Given the description of an element on the screen output the (x, y) to click on. 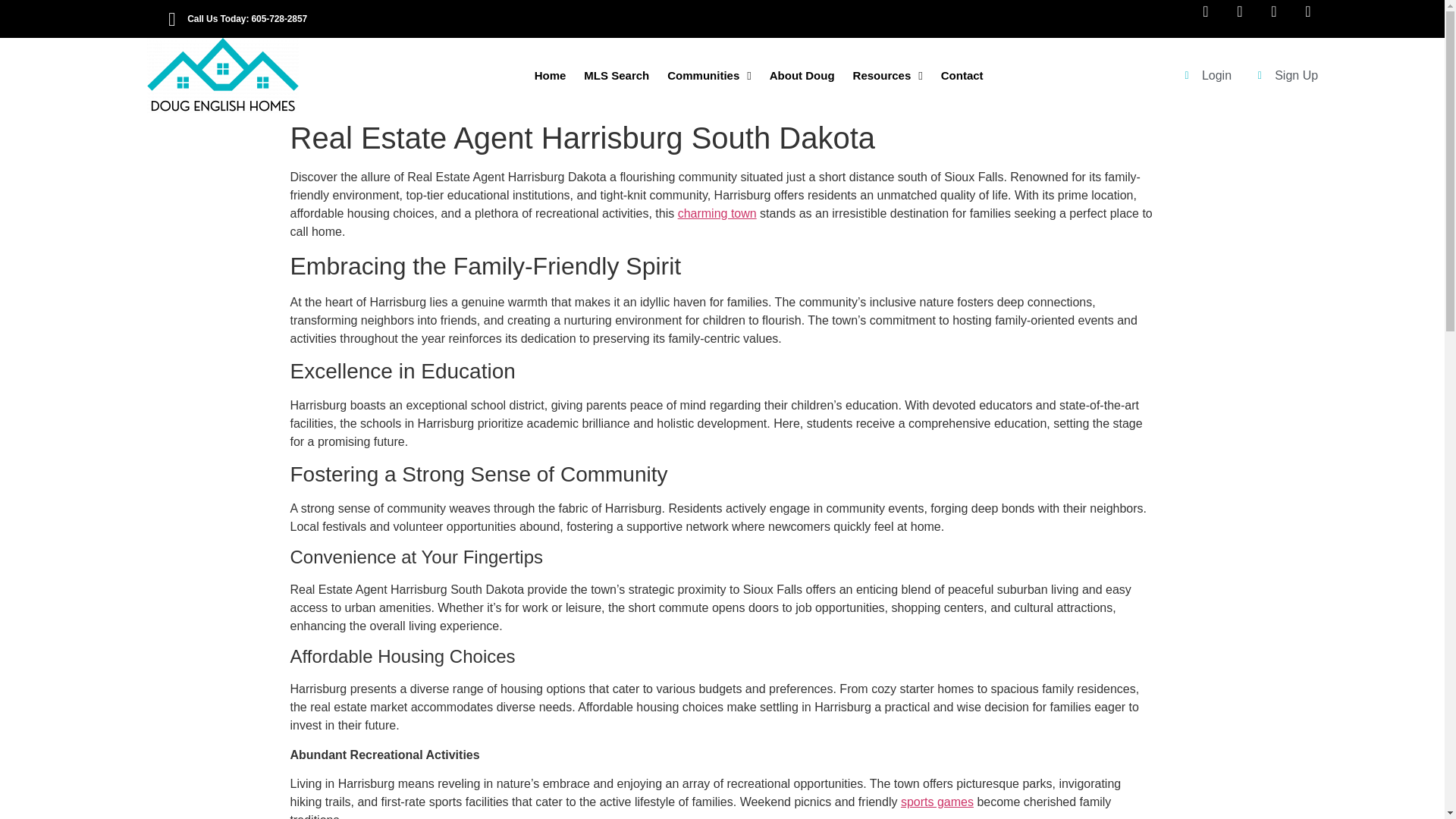
MLS Search (616, 75)
Contact (961, 75)
Home (550, 75)
Resources (887, 75)
About Doug (802, 75)
Call Us Today: 605-728-2857 (436, 18)
Communities (709, 75)
